Given the description of an element on the screen output the (x, y) to click on. 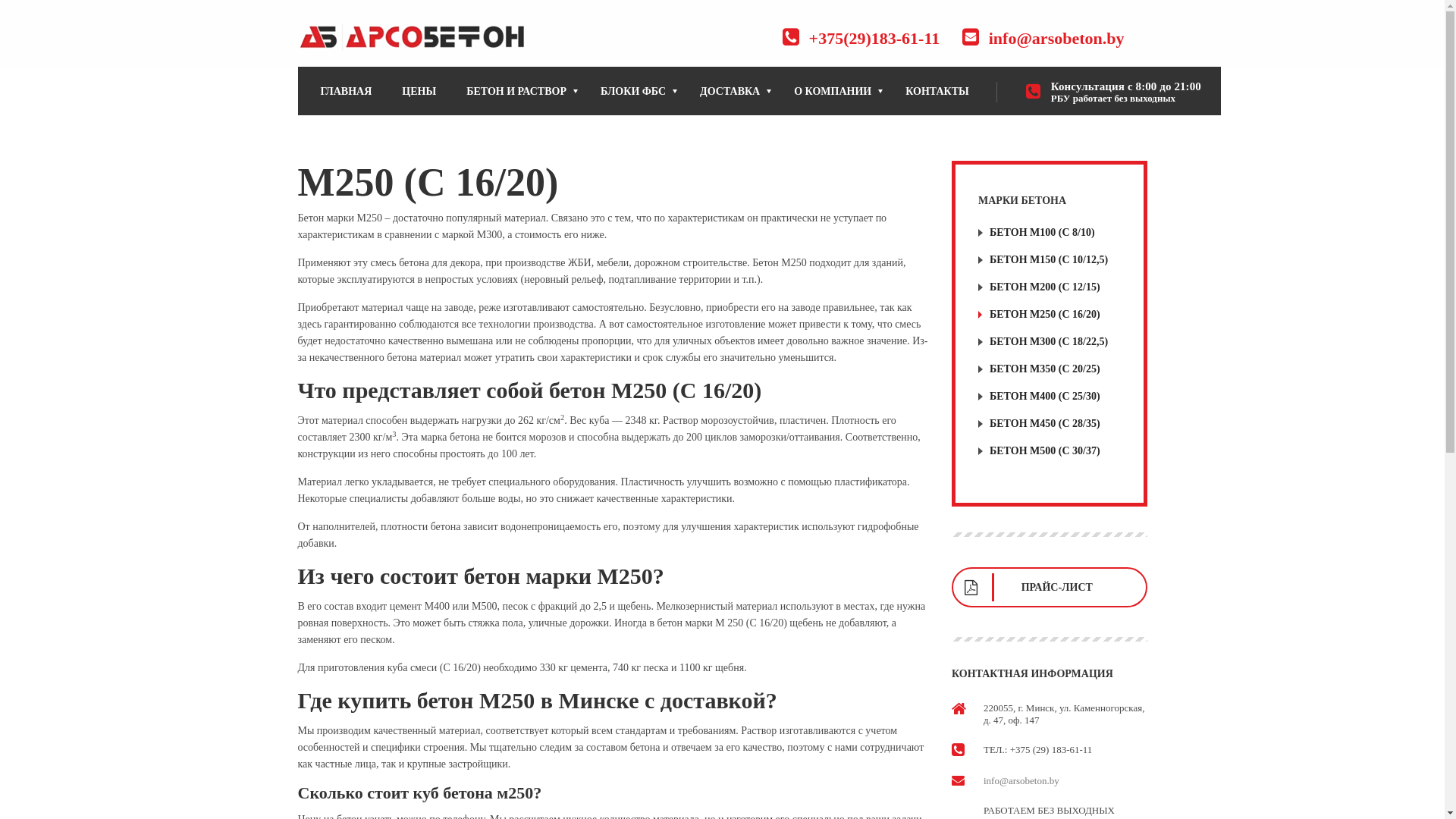
info@arsobeton.by Element type: text (1056, 37)
info@arsobeton.by Element type: text (1021, 780)
+375(29)183-61-11 Element type: text (874, 37)
